Given the description of an element on the screen output the (x, y) to click on. 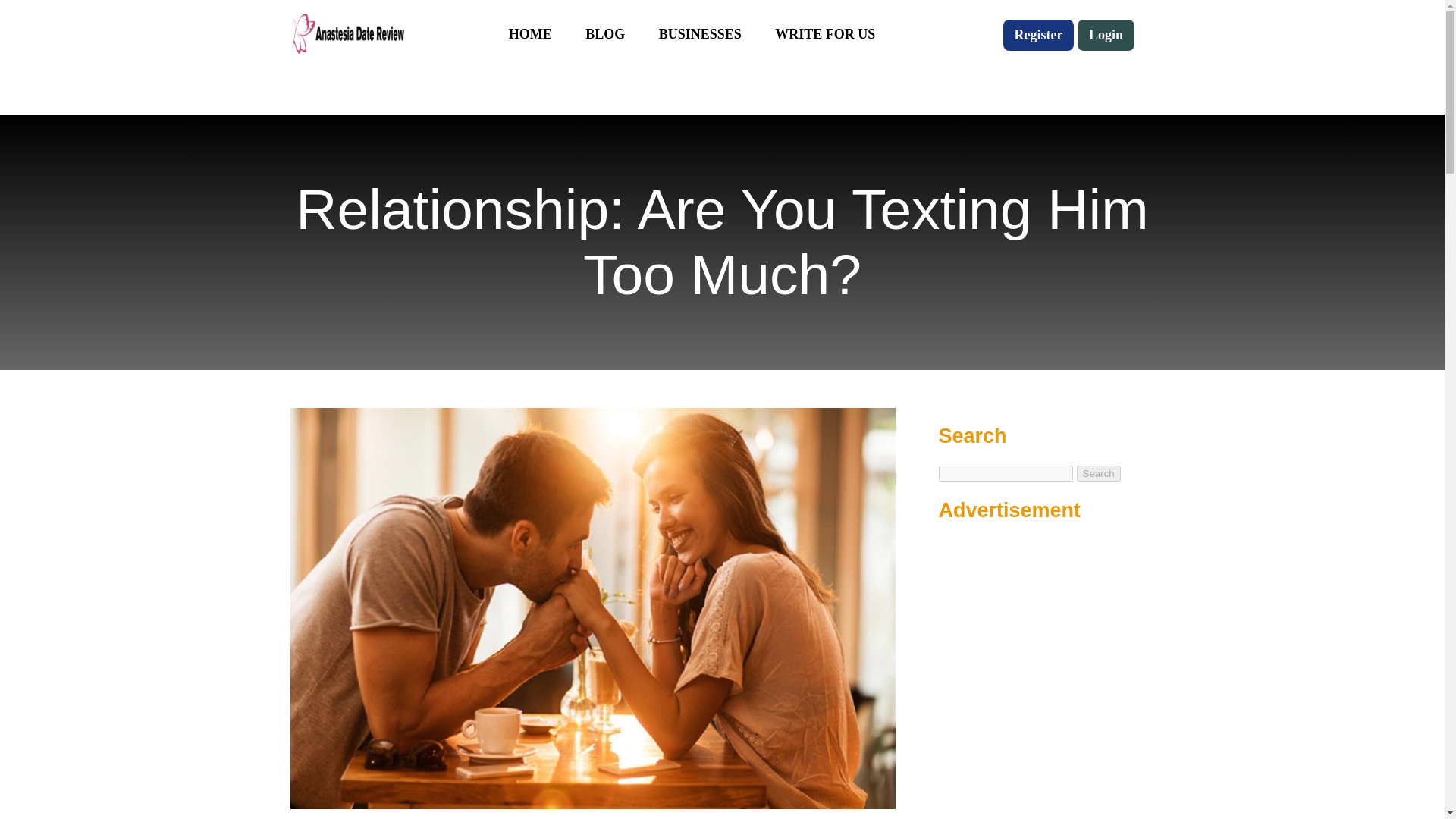
WRITE FOR US (824, 33)
HOME (529, 33)
BLOG (604, 33)
Login (1105, 34)
Search (1099, 473)
BUSINESSES (700, 33)
Search (1099, 473)
AnastasiaDate Review (346, 33)
Register (1038, 34)
